Given the description of an element on the screen output the (x, y) to click on. 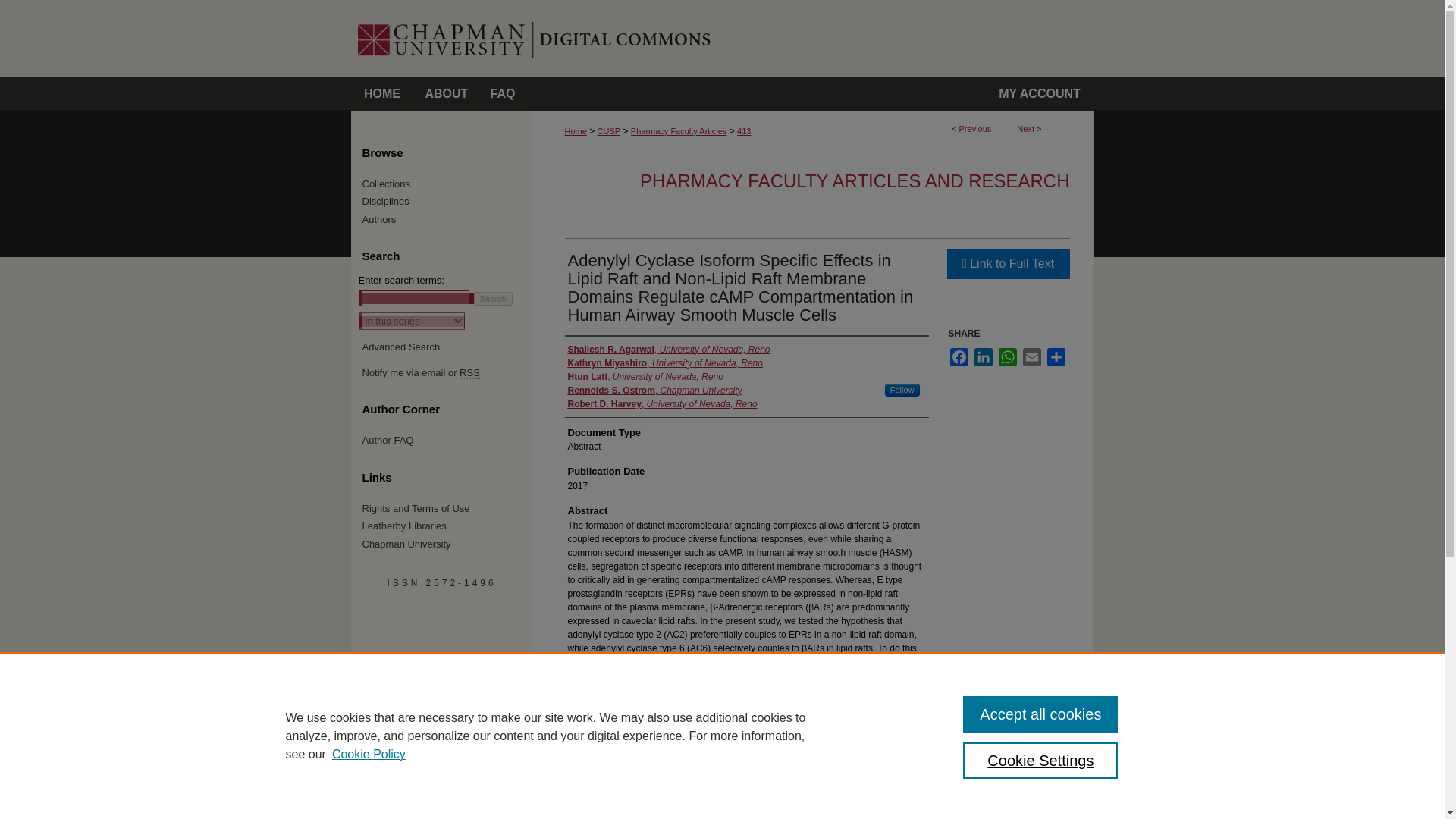
MY ACCOUNT (1039, 93)
FAQ (503, 93)
Follow Rennolds S. Ostrom (902, 390)
Robert D. Harvey, University of Nevada, Reno (662, 404)
Chapman University Digital Commons (812, 38)
Chapman University Digital Commons (812, 38)
Link opens in new window (1007, 263)
ABOUT (446, 93)
WhatsApp (1006, 357)
Authors (447, 219)
CUSP (608, 130)
Next (1024, 128)
FAQ (503, 93)
Search (493, 298)
Browse by Disciplines (447, 201)
